Given the description of an element on the screen output the (x, y) to click on. 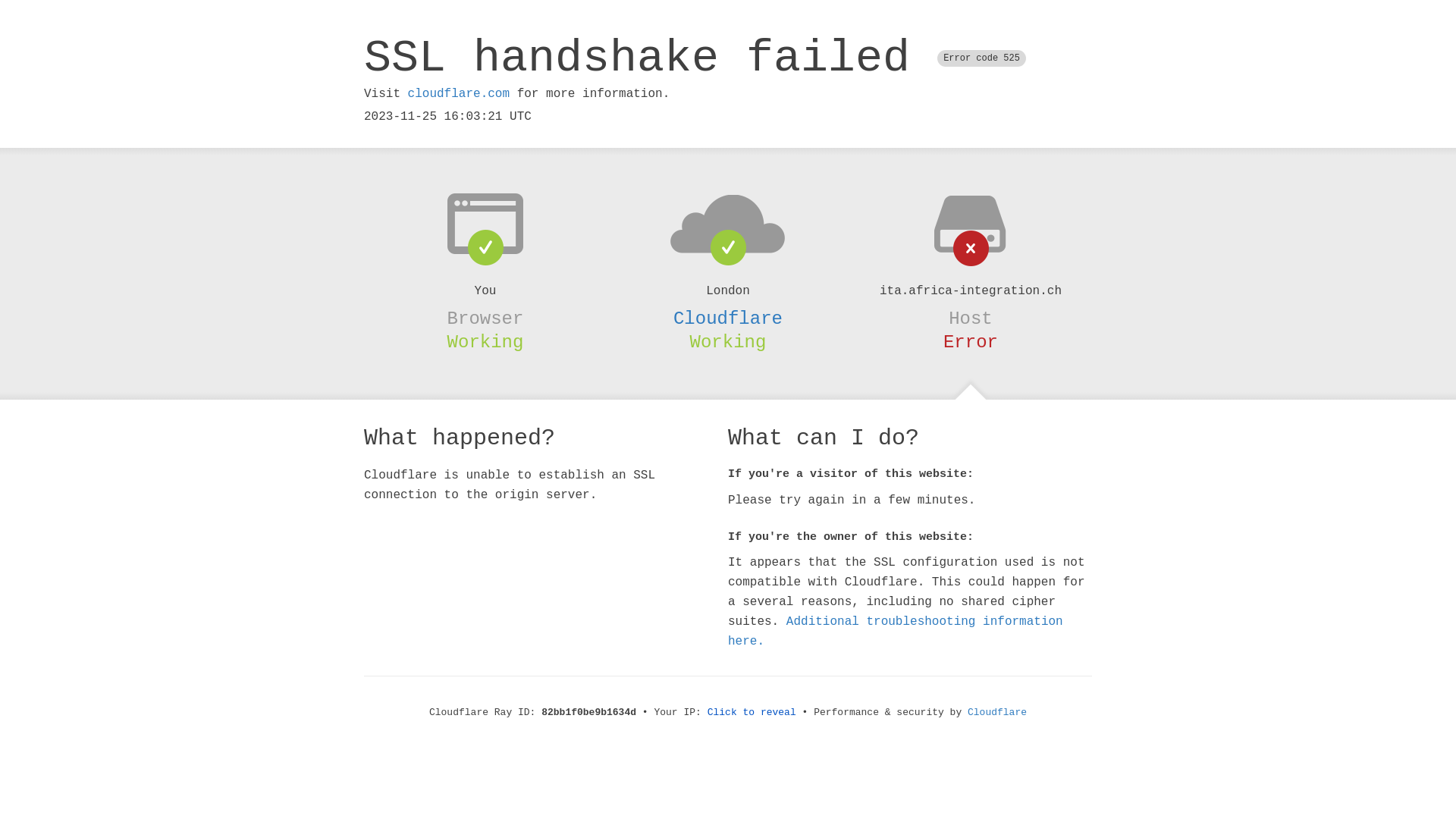
Cloudflare Element type: text (727, 318)
Click to reveal Element type: text (751, 712)
Additional troubleshooting information here. Element type: text (895, 631)
Cloudflare Element type: text (996, 712)
cloudflare.com Element type: text (458, 93)
